Given the description of an element on the screen output the (x, y) to click on. 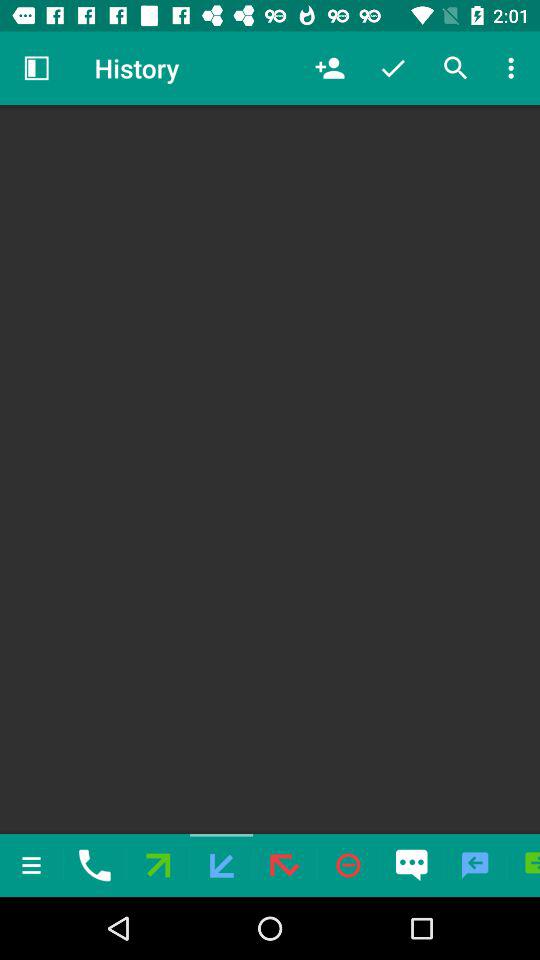
launch the icon to the right of the history icon (329, 67)
